Given the description of an element on the screen output the (x, y) to click on. 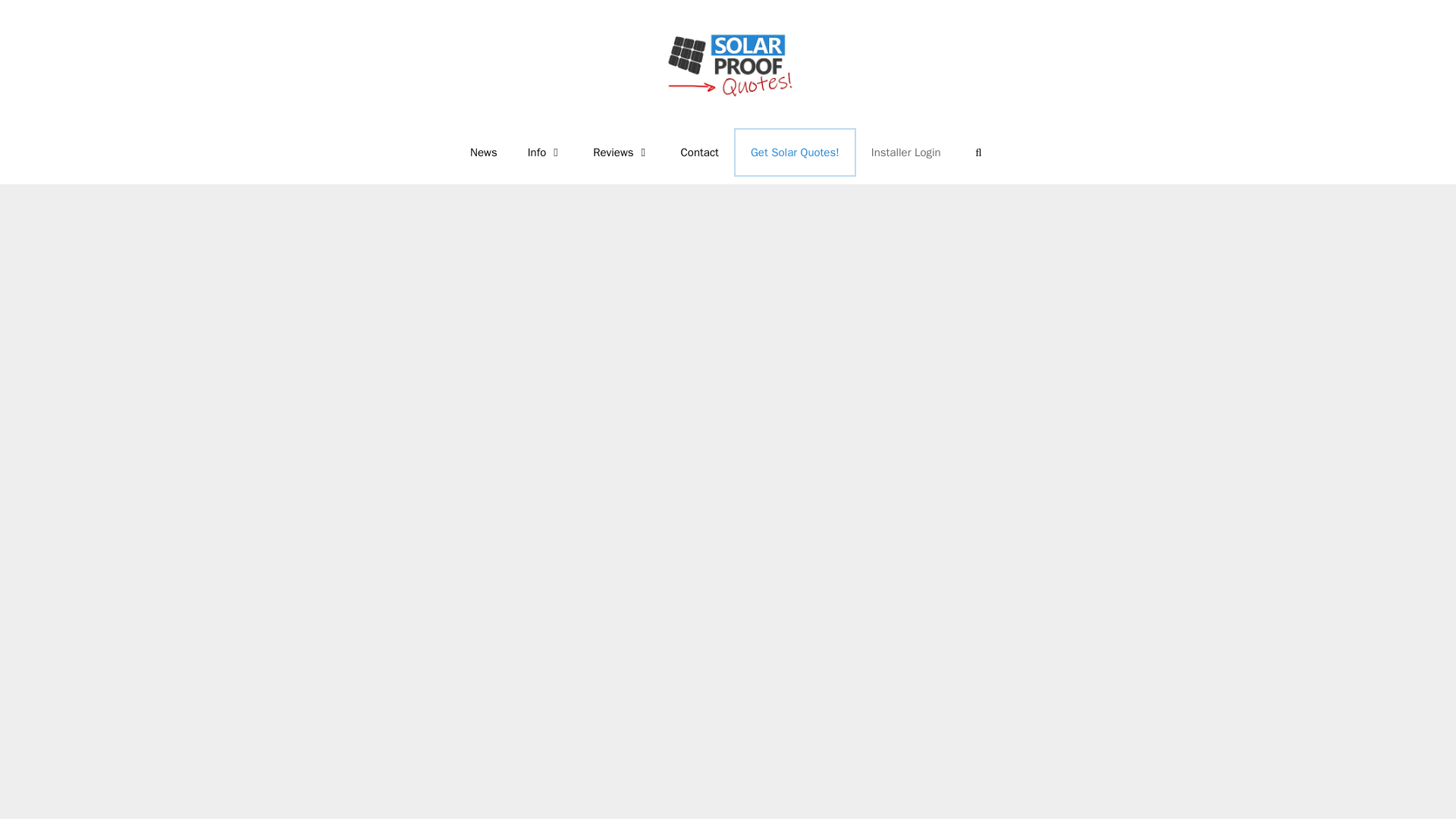
Contact (699, 152)
Get Solar Quotes! (794, 151)
Installer Login (906, 152)
News (483, 152)
Solar Proof Quotes (727, 63)
Solar Proof Quotes (727, 63)
Search (978, 152)
Info (545, 152)
Search (978, 152)
Reviews (621, 152)
